Given the description of an element on the screen output the (x, y) to click on. 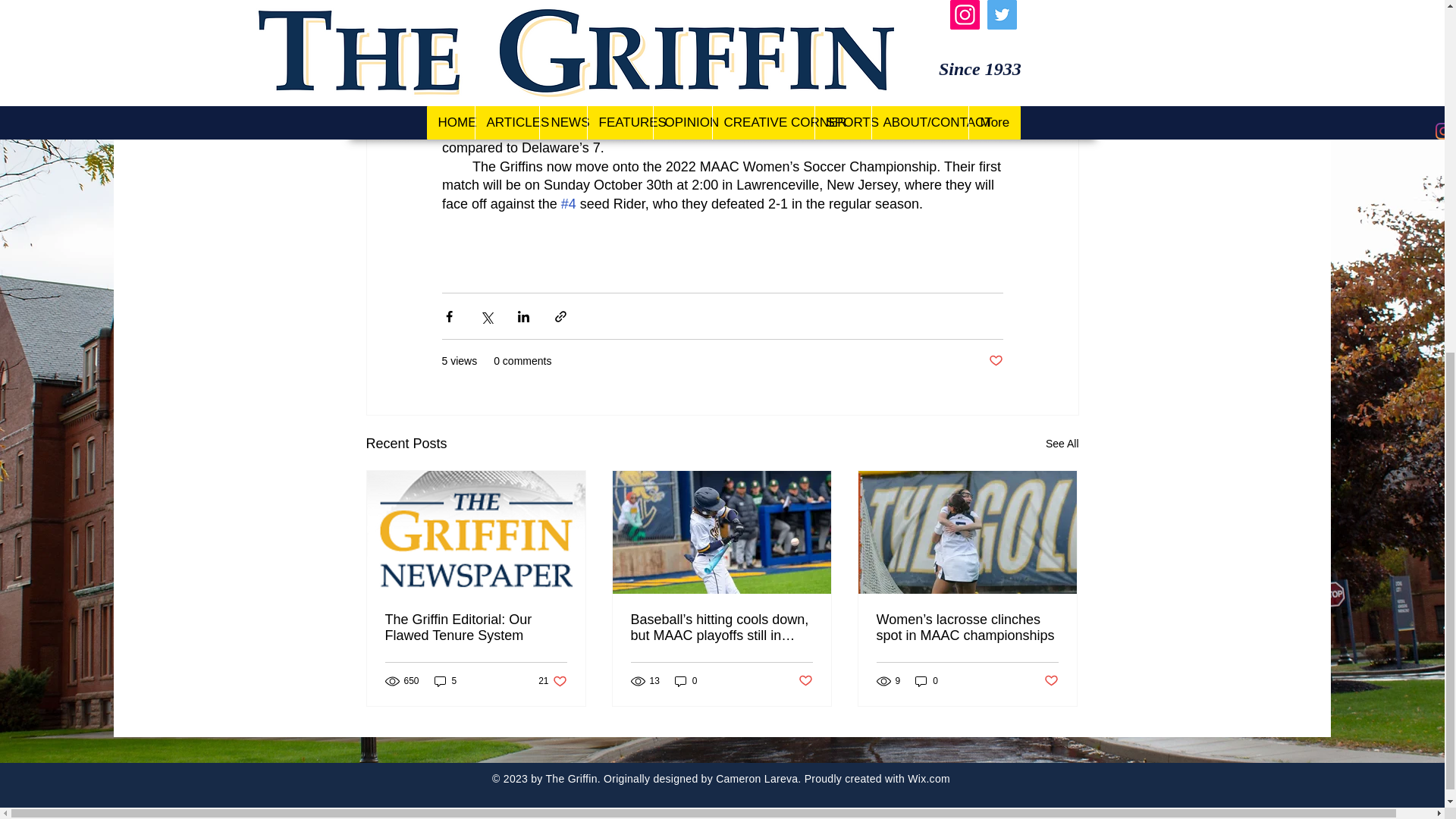
5 (445, 681)
The Griffin Editorial: Our Flawed Tenure System (552, 681)
Post not marked as liked (476, 627)
See All (995, 360)
0 (1061, 444)
0 (926, 681)
Post not marked as liked (685, 681)
